Given the description of an element on the screen output the (x, y) to click on. 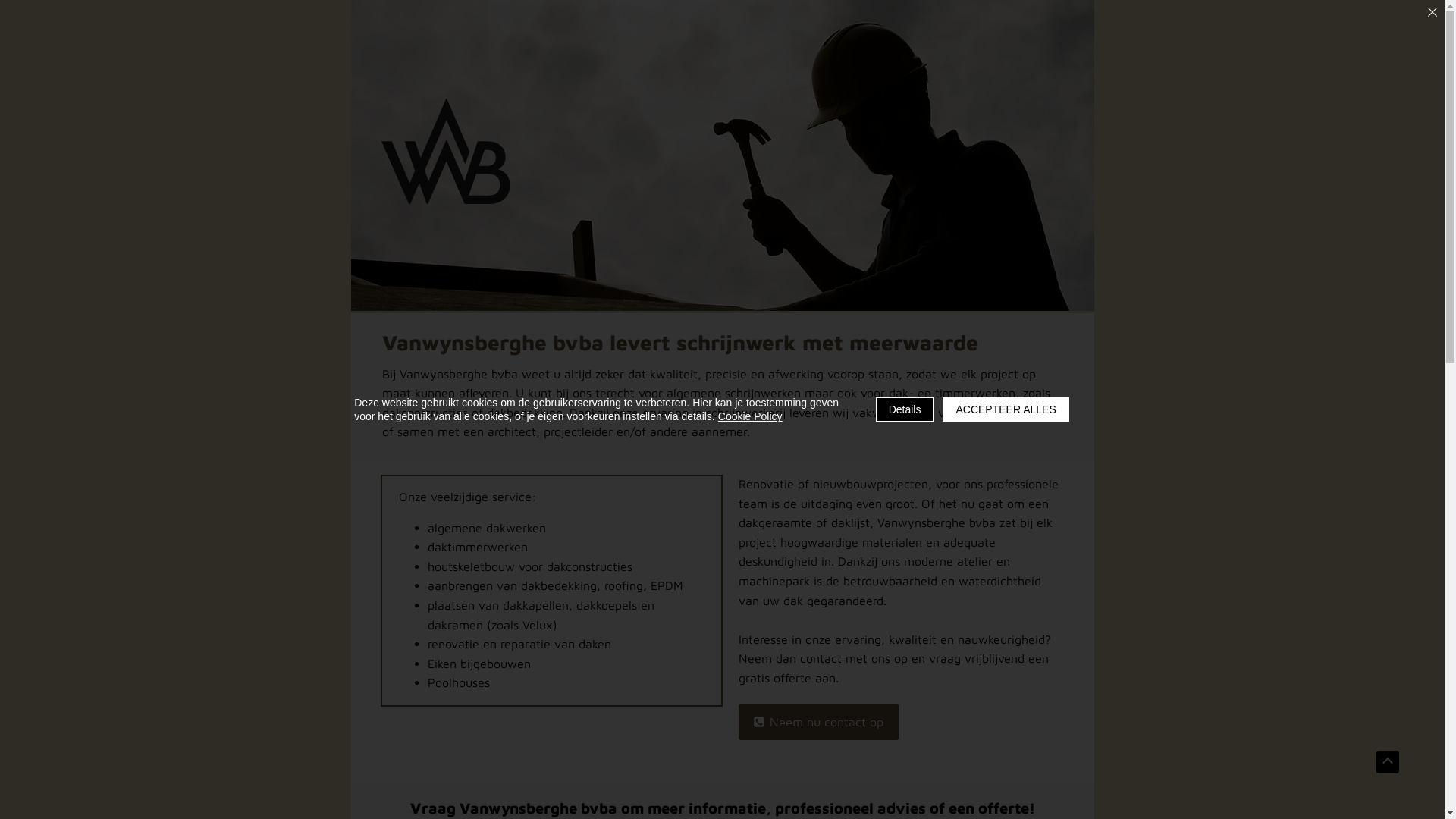
Details Element type: text (904, 409)
ACCEPTEER ALLES Element type: text (1005, 409)
Cookie Policy Element type: text (750, 416)
Neem nu contact op Element type: text (818, 721)
